Given the description of an element on the screen output the (x, y) to click on. 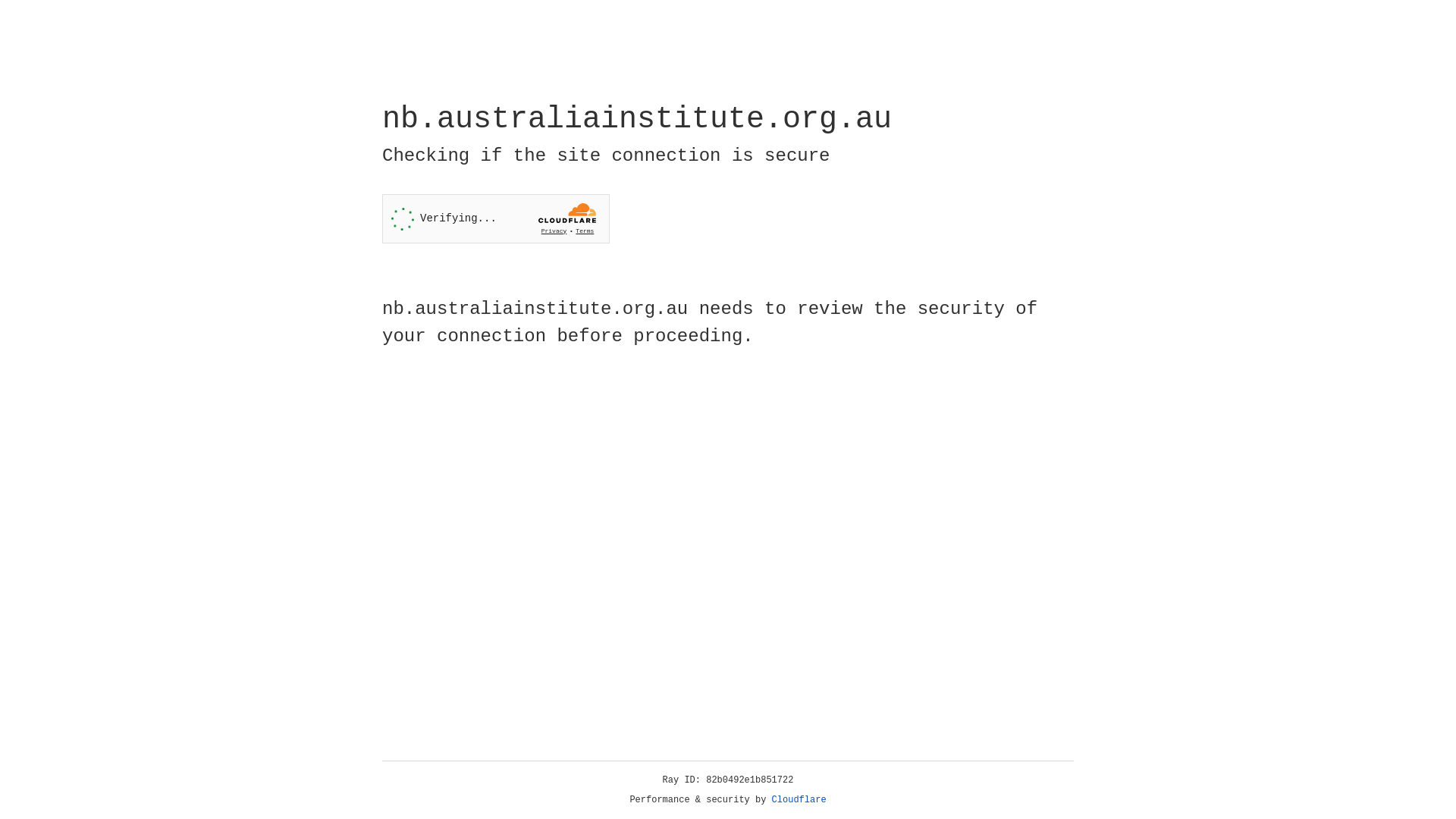
Cloudflare Element type: text (798, 799)
Widget containing a Cloudflare security challenge Element type: hover (495, 218)
